Given the description of an element on the screen output the (x, y) to click on. 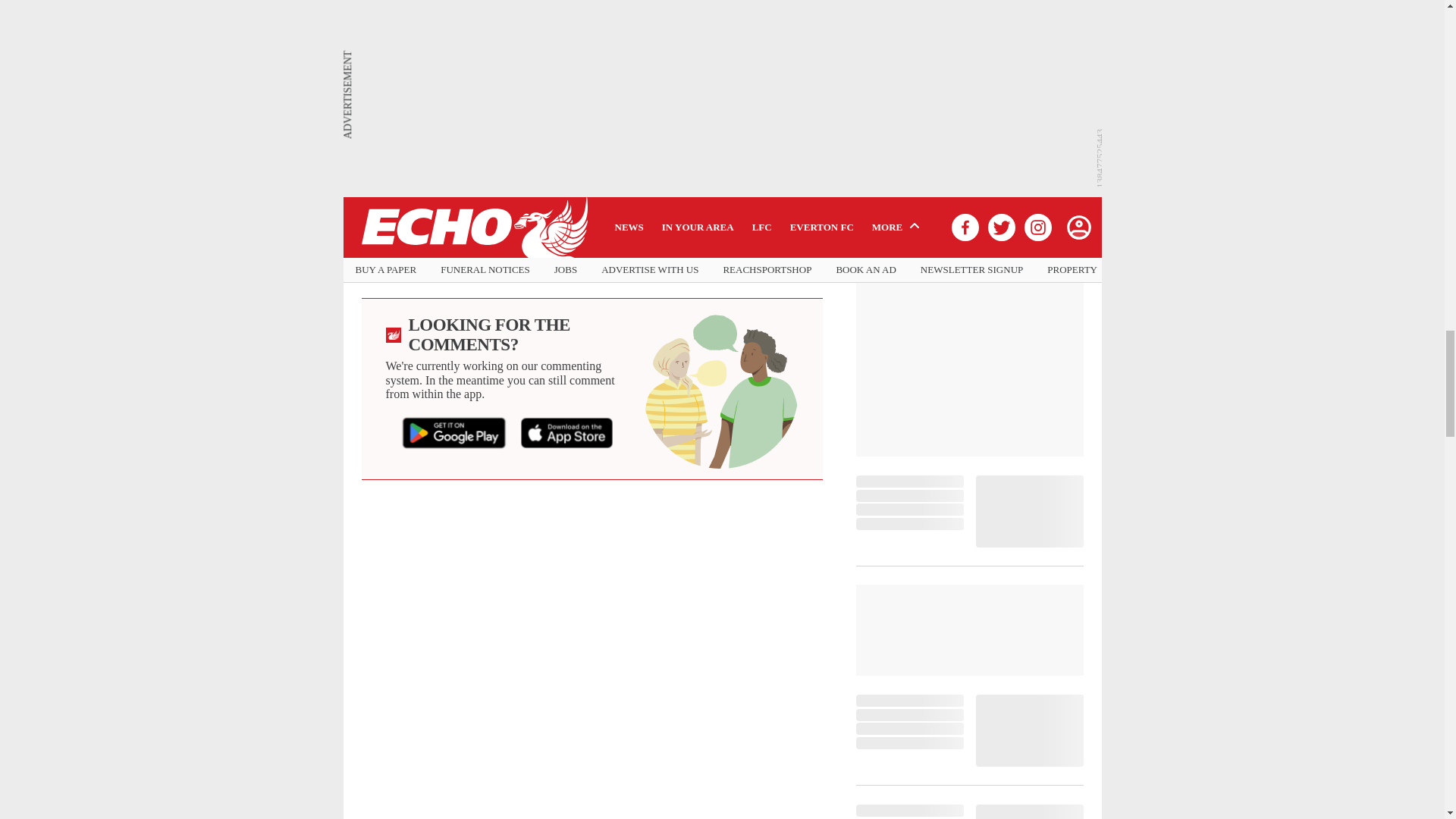
3rd party ad content (969, 228)
